Given the description of an element on the screen output the (x, y) to click on. 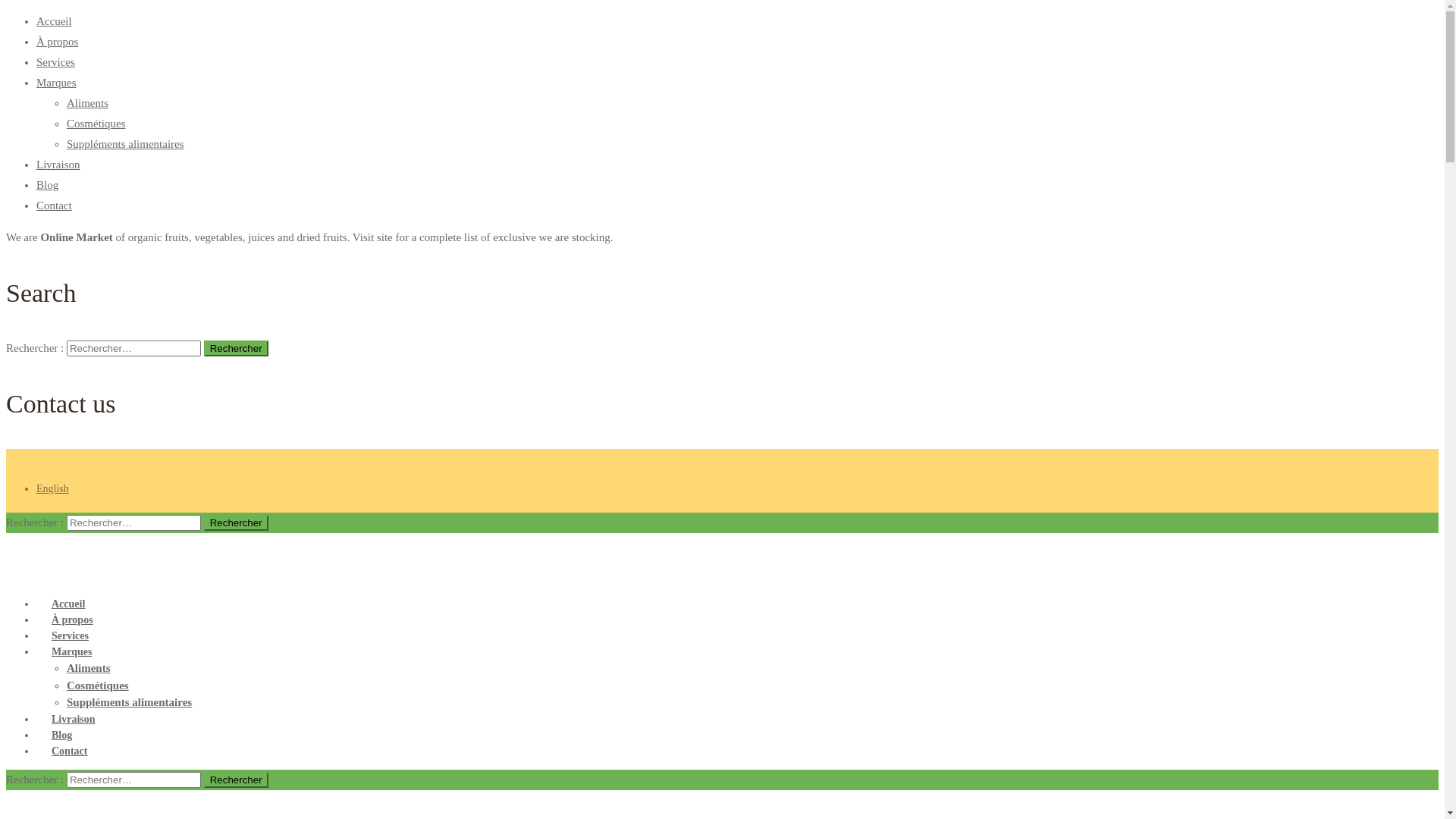
Marques Element type: text (71, 651)
Contact Element type: text (54, 205)
Rechercher Element type: text (235, 779)
English Element type: text (52, 488)
Contact Element type: text (69, 750)
Allons Vert Element type: hover (369, 555)
Accueil Element type: text (68, 603)
Aliments Element type: text (87, 103)
Livraison Element type: text (58, 164)
Services Element type: text (69, 635)
Livraison Element type: text (73, 718)
Rechercher Element type: text (235, 522)
Aliments Element type: text (88, 668)
Services Element type: text (55, 62)
Rechercher Element type: text (235, 348)
Blog Element type: text (61, 735)
Blog Element type: text (47, 184)
Marques Element type: text (56, 82)
Accueil Element type: text (54, 21)
